Given the description of an element on the screen output the (x, y) to click on. 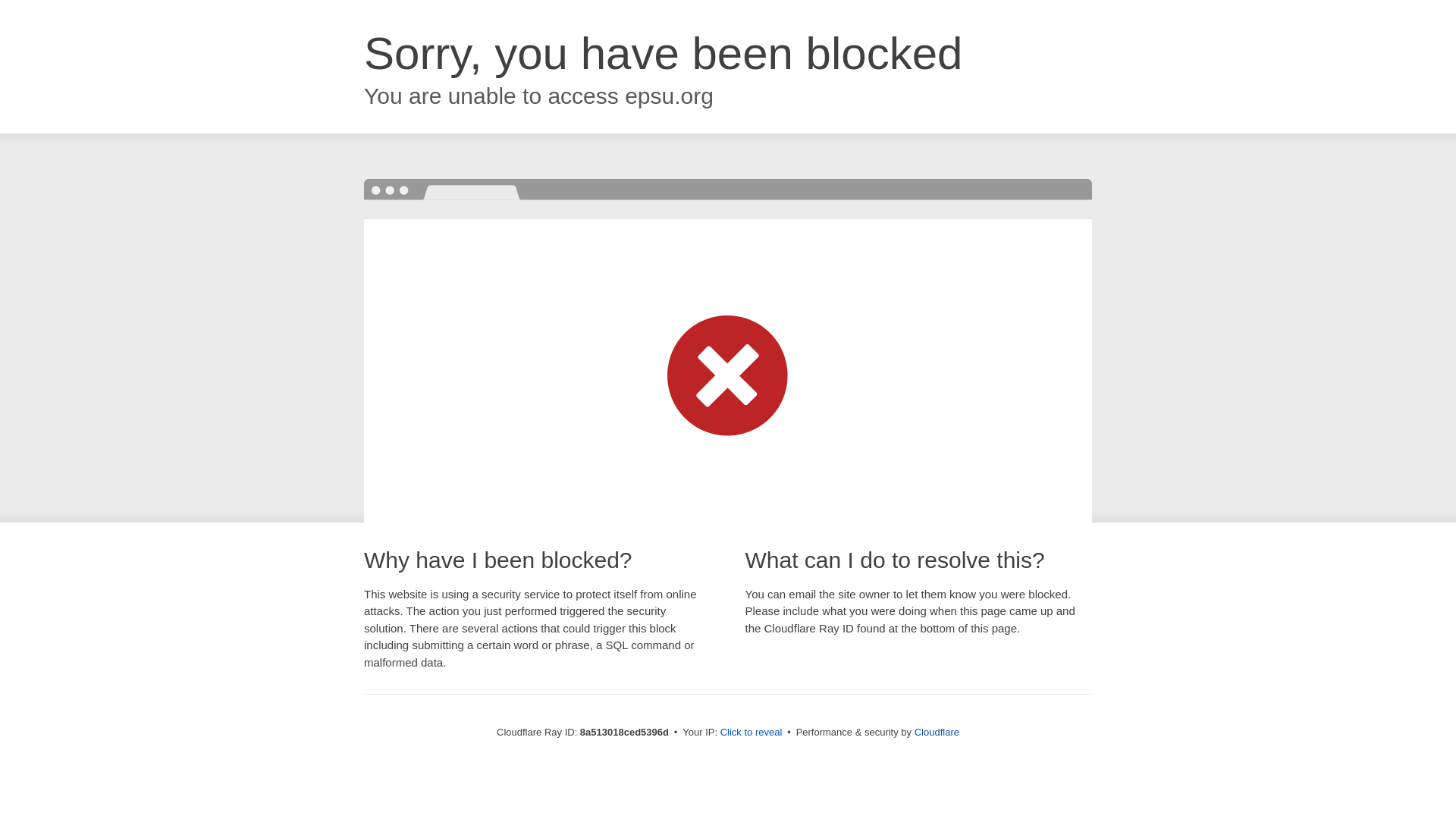
Cloudflare (936, 731)
Click to reveal (751, 732)
